Given the description of an element on the screen output the (x, y) to click on. 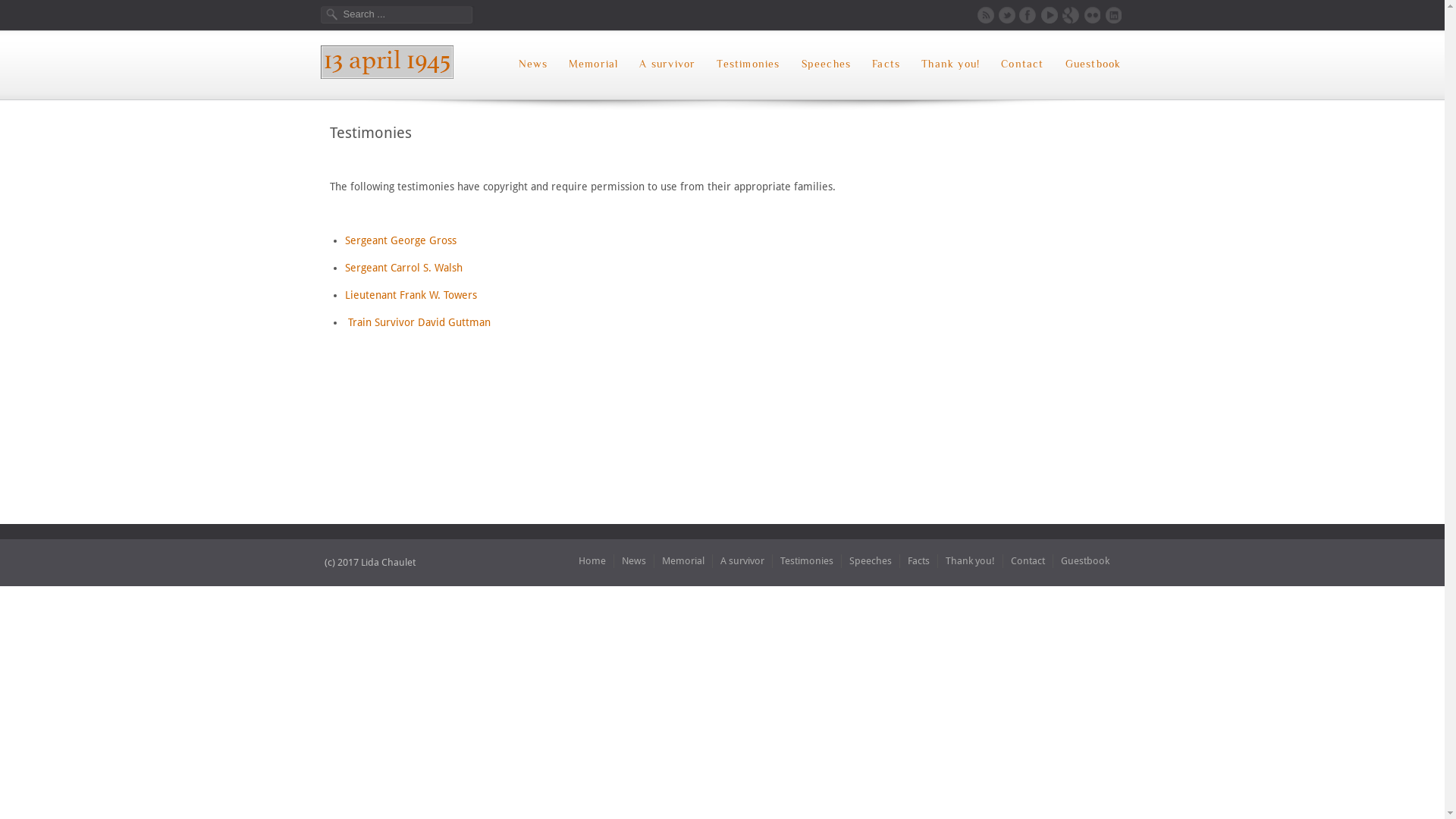
Flickr Element type: hover (1091, 14)
A survivor Element type: text (667, 63)
Facebook Element type: hover (1027, 14)
Sergeant Carrol S. Walsh Element type: text (402, 267)
Guestbook Element type: text (1093, 63)
News Element type: text (634, 560)
Contact Element type: text (1021, 63)
Youtube Element type: hover (1048, 14)
Speeches Element type: text (826, 63)
Testimonies Element type: text (747, 63)
Google Element type: hover (1070, 14)
Train Survivor David Guttman Element type: text (418, 322)
Facts Element type: text (885, 63)
News Element type: text (532, 63)
Contact Element type: text (1027, 560)
Testimonies Element type: text (805, 560)
Sergeant George Gross Element type: text (399, 240)
Memorial Element type: text (682, 560)
LinkedIn Element type: hover (1112, 14)
A survivor Element type: text (742, 560)
Speeches Element type: text (870, 560)
Guestbook Element type: text (1084, 560)
Home Element type: text (591, 560)
Lieutenant Frank W. Towers Element type: text (410, 294)
Twitter Element type: hover (1006, 14)
Memorial Element type: text (593, 63)
Facts Element type: text (918, 560)
Thank you! Element type: text (969, 560)
RSS Feed Element type: hover (985, 14)
Thank you! Element type: text (950, 63)
